Given the description of an element on the screen output the (x, y) to click on. 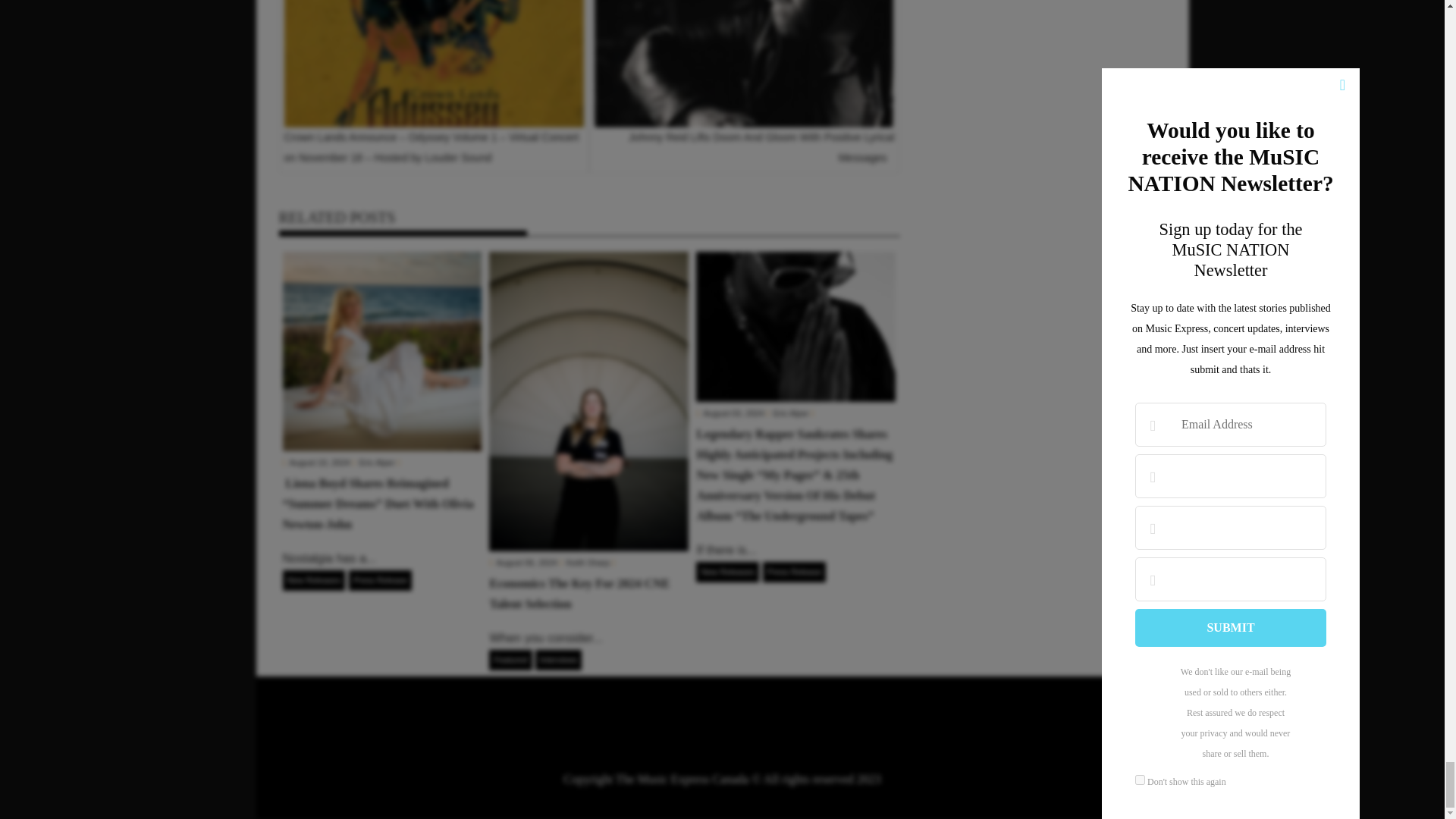
Keith Sharp (588, 562)
Eric Alper (791, 412)
Eric Alper (376, 461)
